Given the description of an element on the screen output the (x, y) to click on. 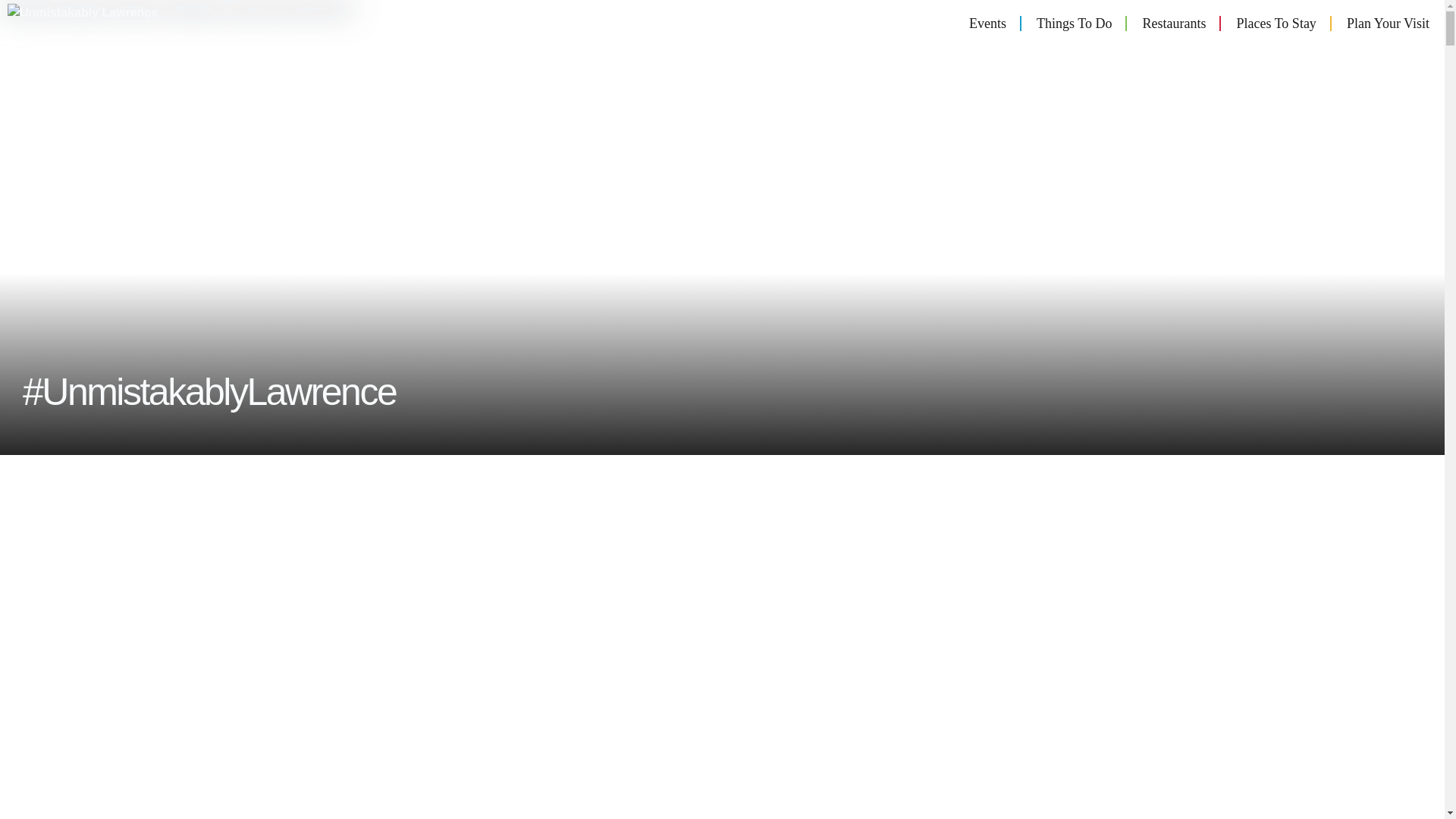
Places To Stay (1275, 23)
Restaurants (1173, 23)
Things To Do (1074, 23)
Events (987, 23)
